Given the description of an element on the screen output the (x, y) to click on. 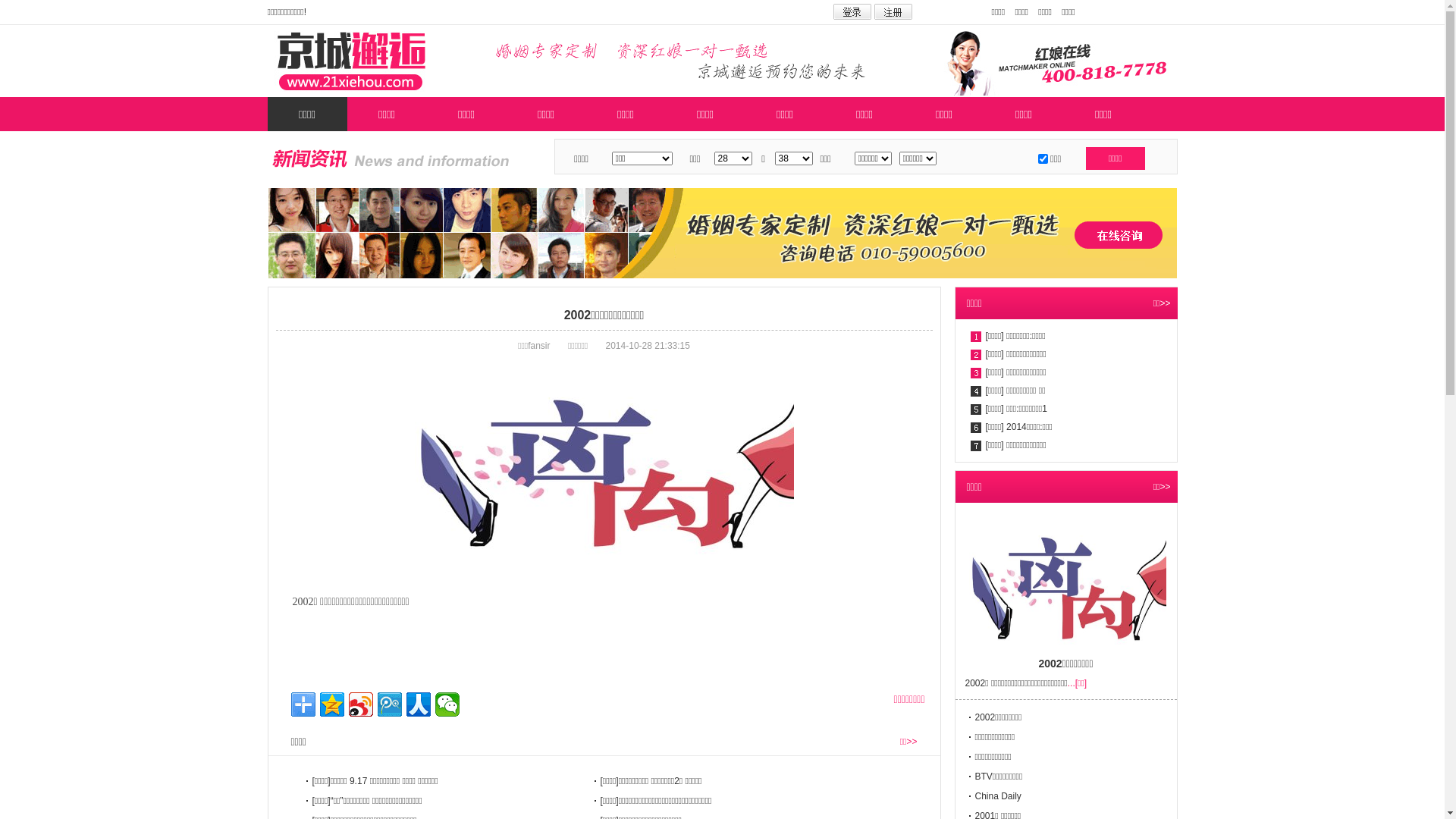
China Daily Element type: text (998, 795)
